Given the description of an element on the screen output the (x, y) to click on. 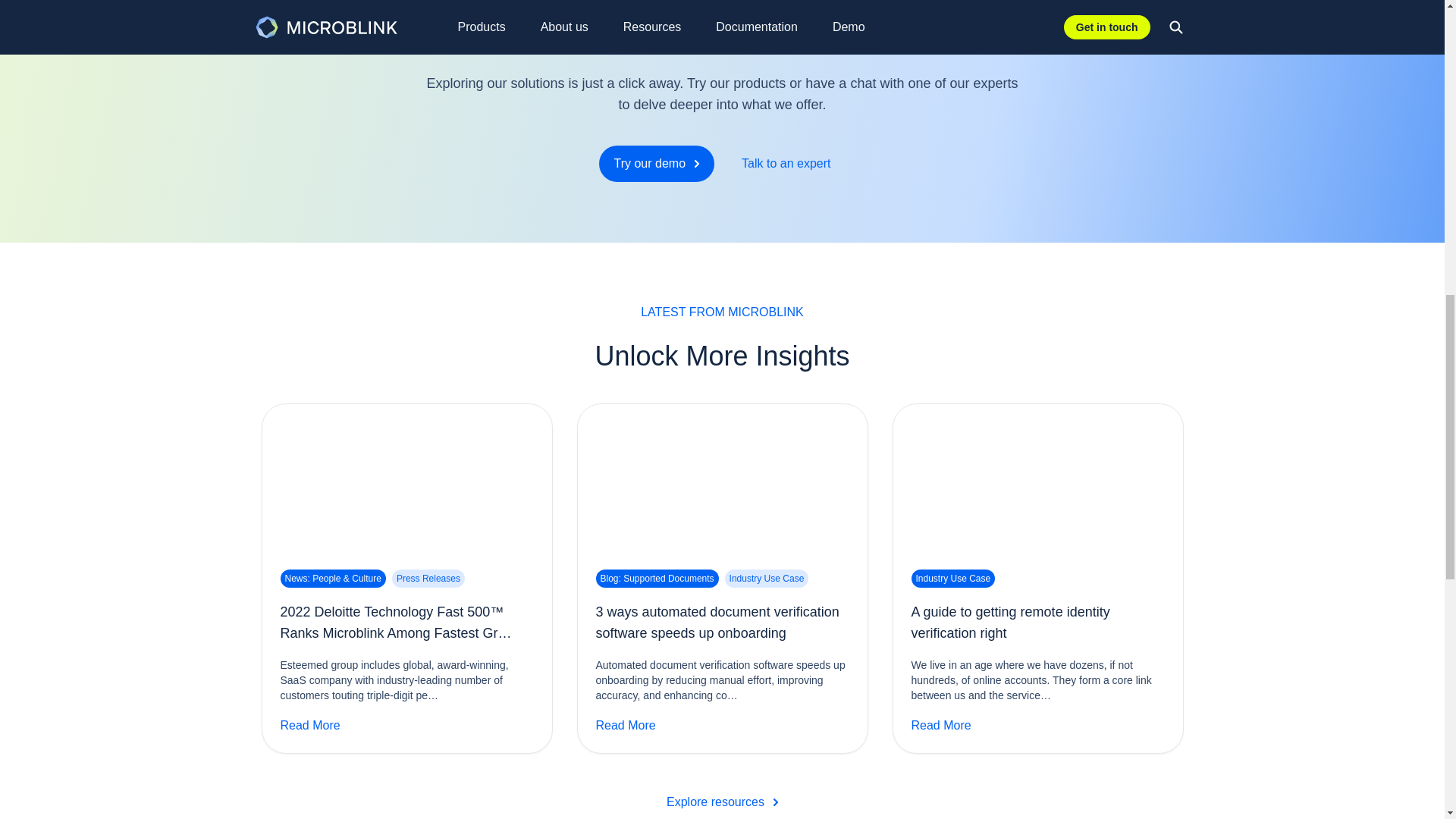
Explore resources (721, 801)
Talk to an expert (722, 163)
Try our demo (785, 163)
